Given the description of an element on the screen output the (x, y) to click on. 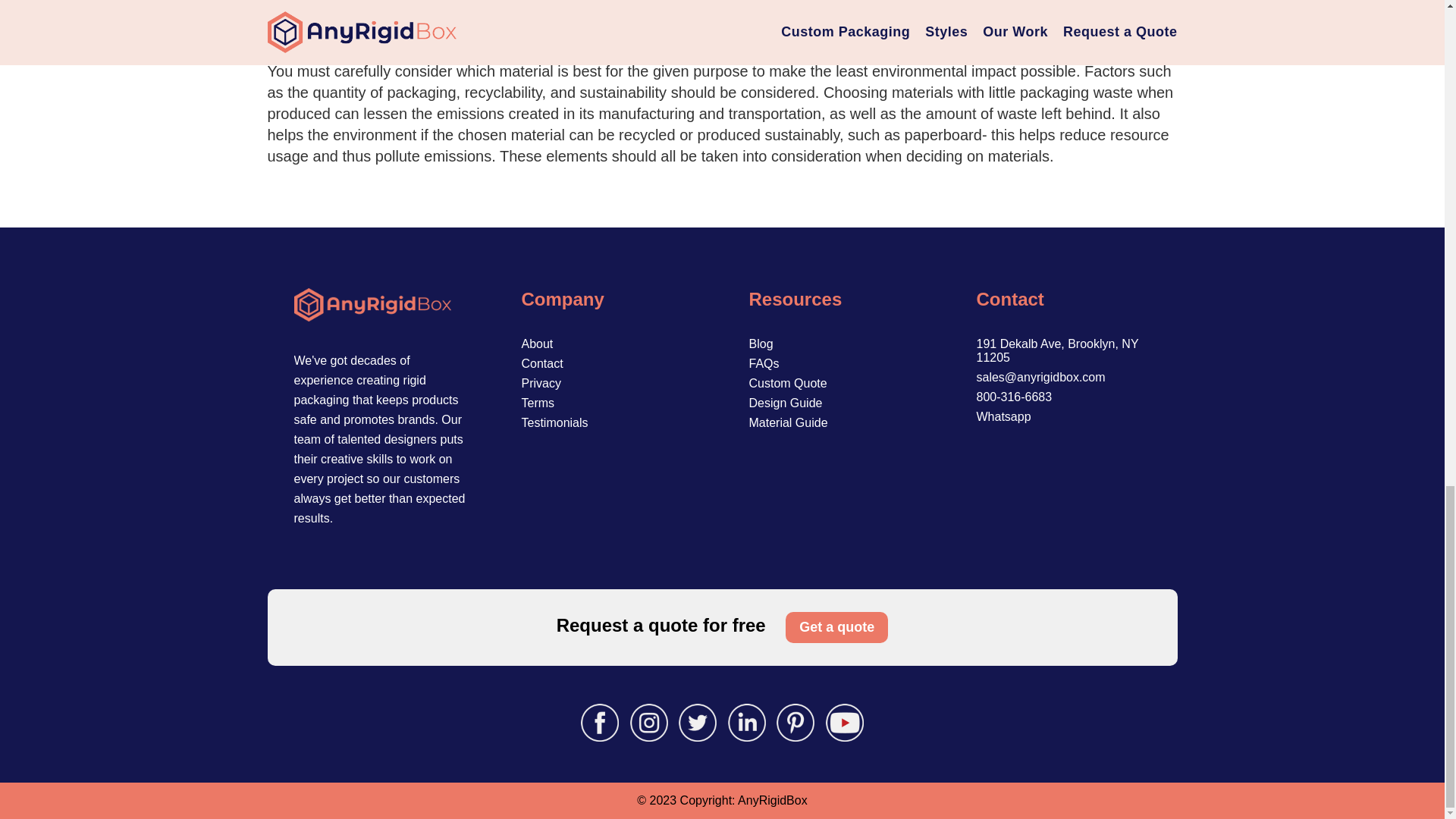
Blog (761, 343)
Get a quote (837, 626)
FAQs (763, 363)
Testimonials (554, 422)
Terms (537, 402)
About (537, 343)
Contact (542, 363)
Material Guide (788, 422)
Custom Quote (788, 382)
Design Guide (785, 402)
800-316-6683 (1014, 396)
Privacy (540, 382)
